Given the description of an element on the screen output the (x, y) to click on. 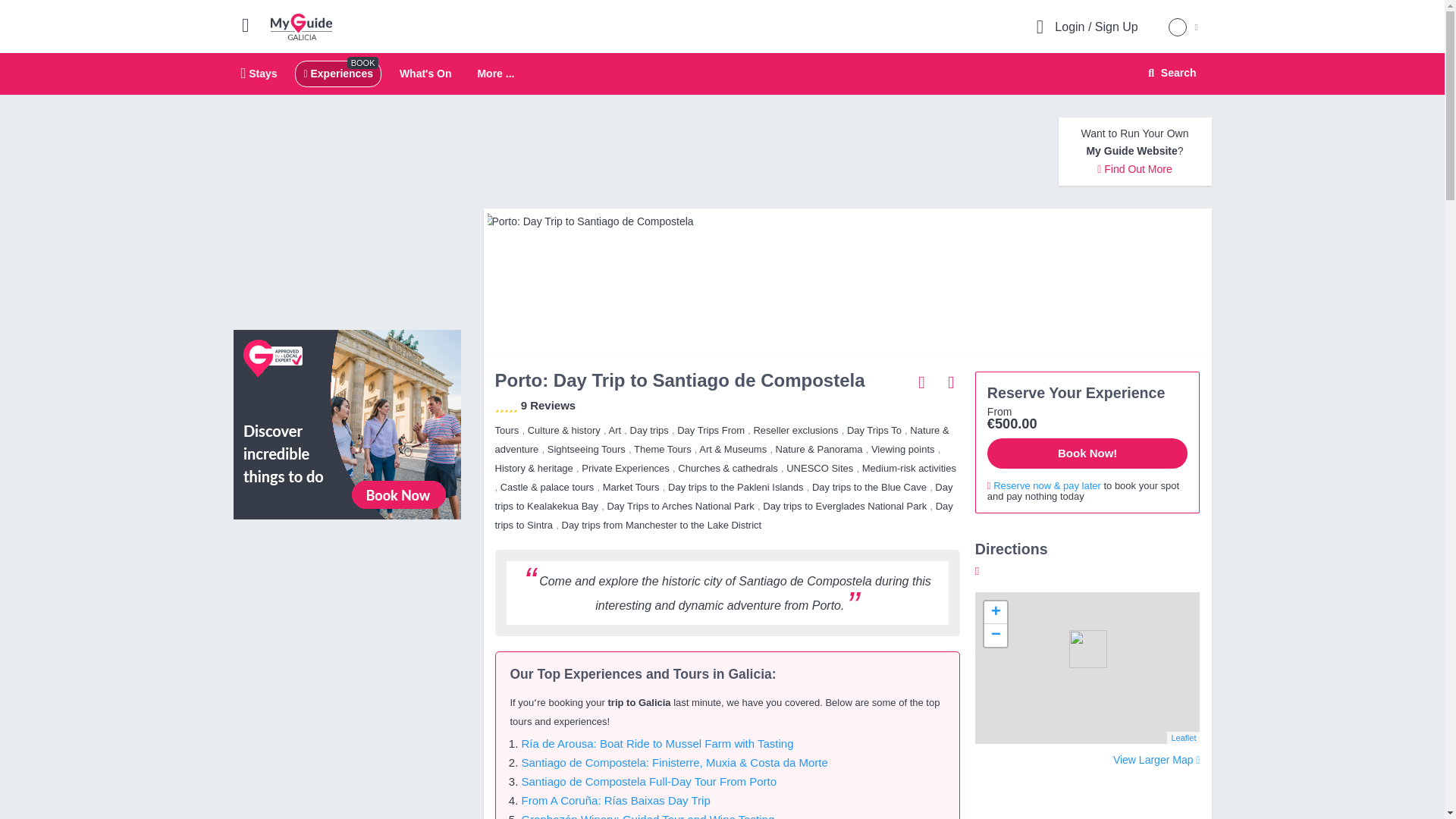
My Guide Galicia (300, 25)
Stays (259, 73)
More ... (495, 73)
A JS library for interactive maps (1182, 737)
Search (1169, 72)
Porto: Day Trip to Santiago de Compostela (846, 221)
Rating: 4.888889 out of 5 (505, 408)
What's On (424, 73)
Zoom in (995, 612)
Experiences (337, 73)
Zoom out (995, 635)
Search Website (721, 74)
